Given the description of an element on the screen output the (x, y) to click on. 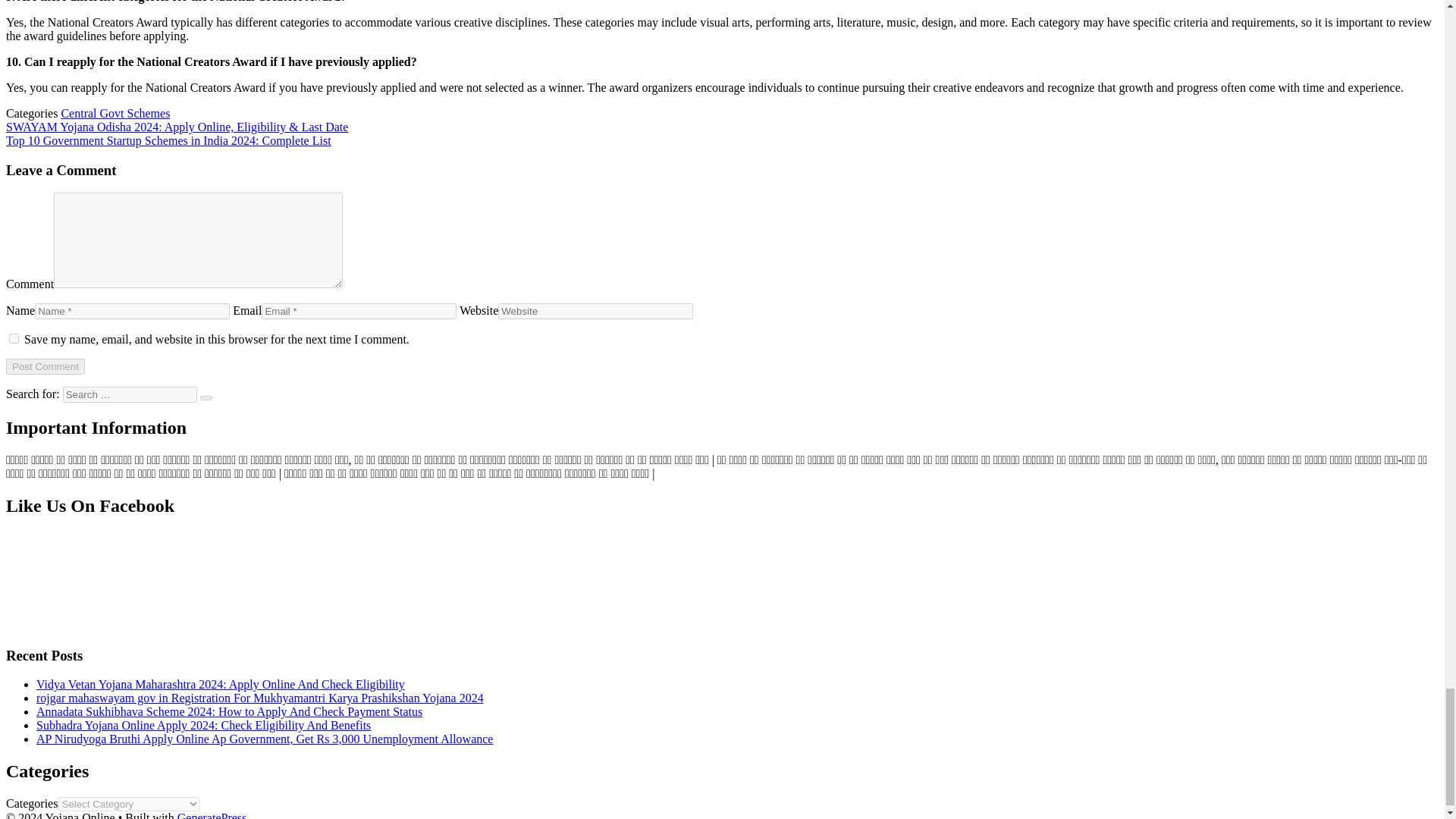
Central Govt Schemes (115, 113)
Post Comment (44, 366)
Post Comment (44, 366)
Search for: (129, 394)
yes (13, 338)
